Given the description of an element on the screen output the (x, y) to click on. 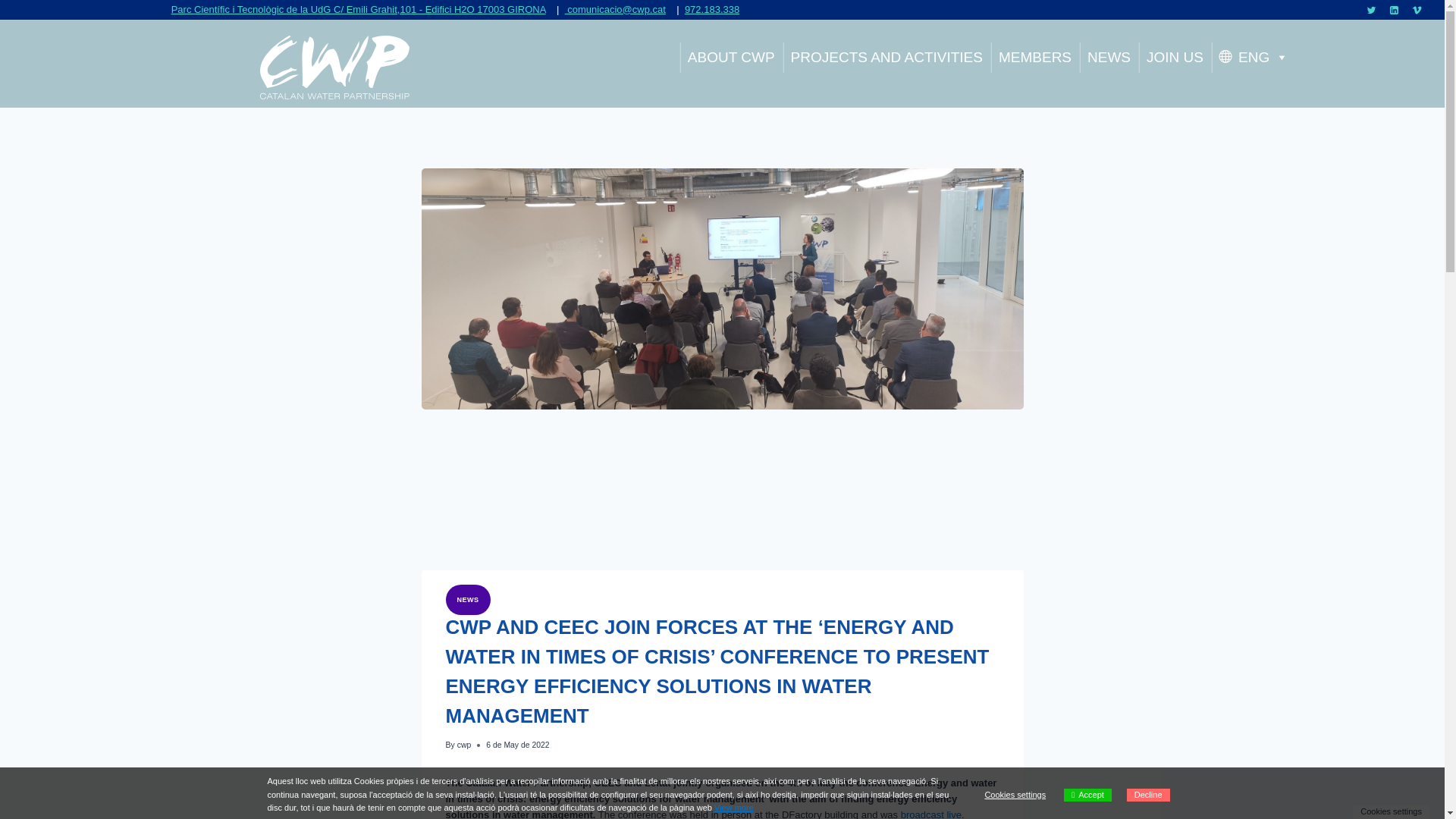
ABOUT CWP (731, 57)
PROJECTS AND ACTIVITIES (886, 57)
NEWS (1109, 57)
MEMBERS (1034, 57)
cwp (463, 745)
JOIN US (1174, 57)
broadcast live (930, 814)
972.183.338 (711, 9)
ENG (1253, 57)
NEWS (468, 599)
